Given the description of an element on the screen output the (x, y) to click on. 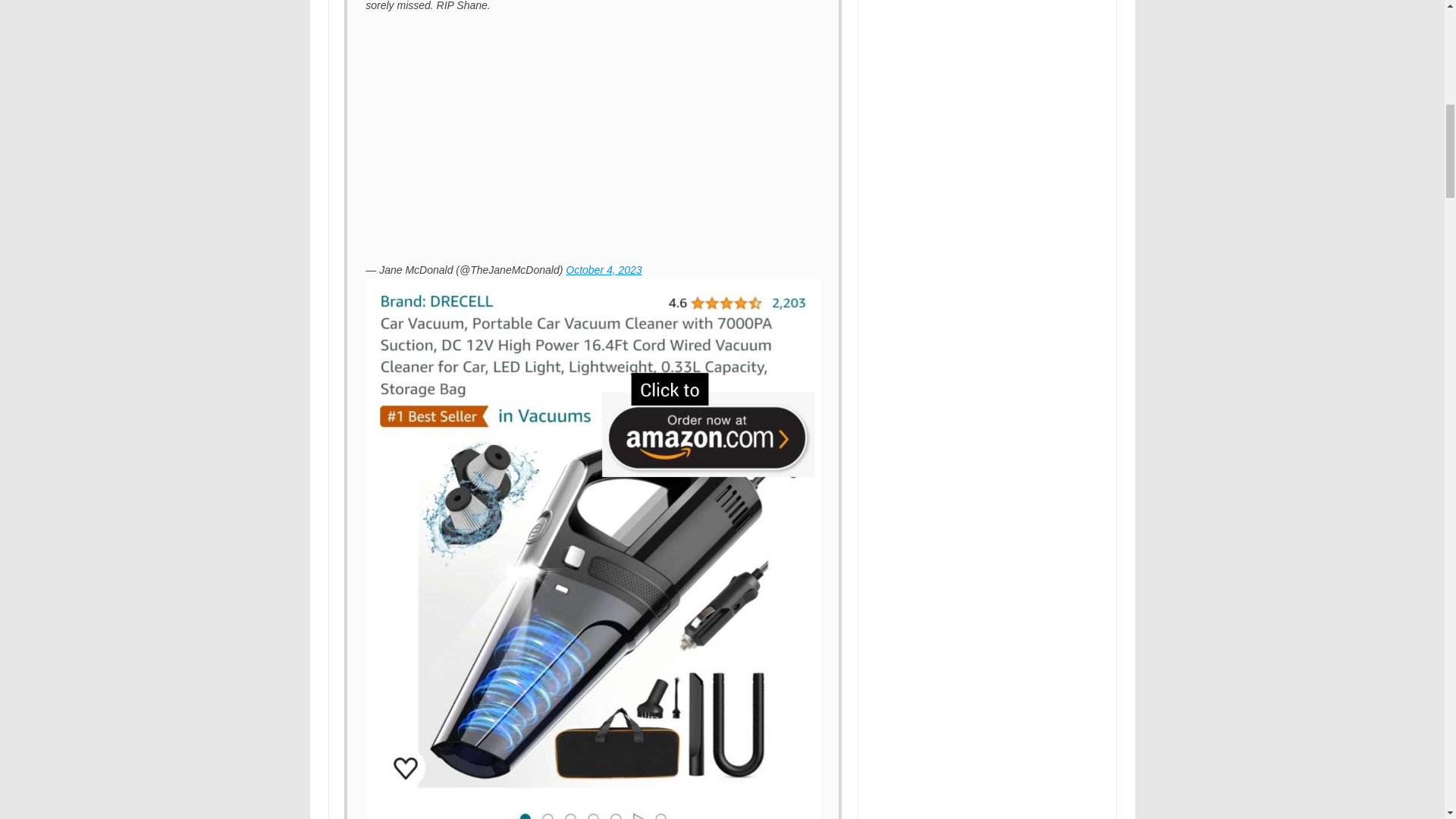
YouTube video player (577, 134)
October 4, 2023 (604, 269)
